Given the description of an element on the screen output the (x, y) to click on. 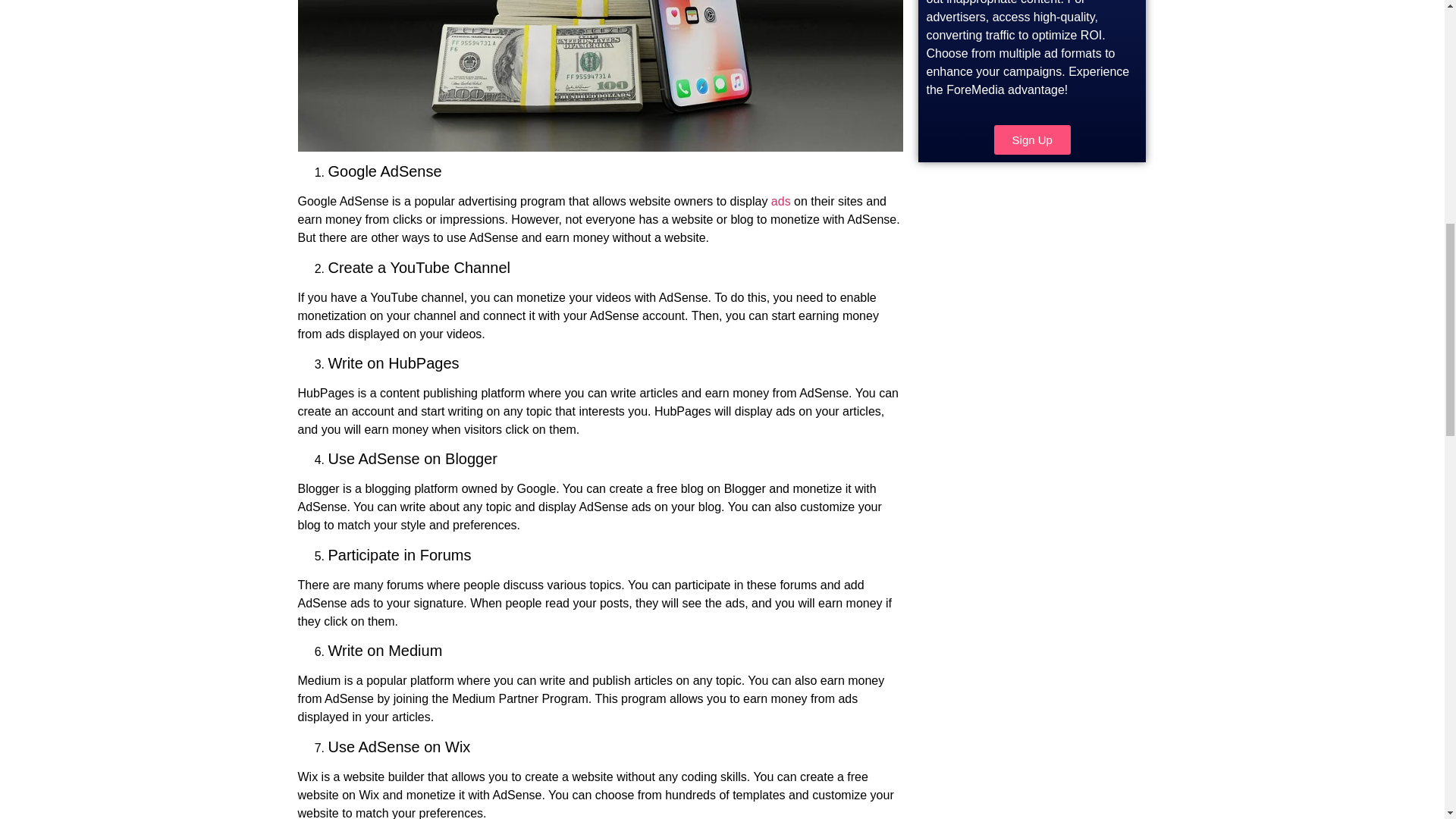
ads (780, 201)
ads (780, 201)
Sign Up (1032, 139)
